Given the description of an element on the screen output the (x, y) to click on. 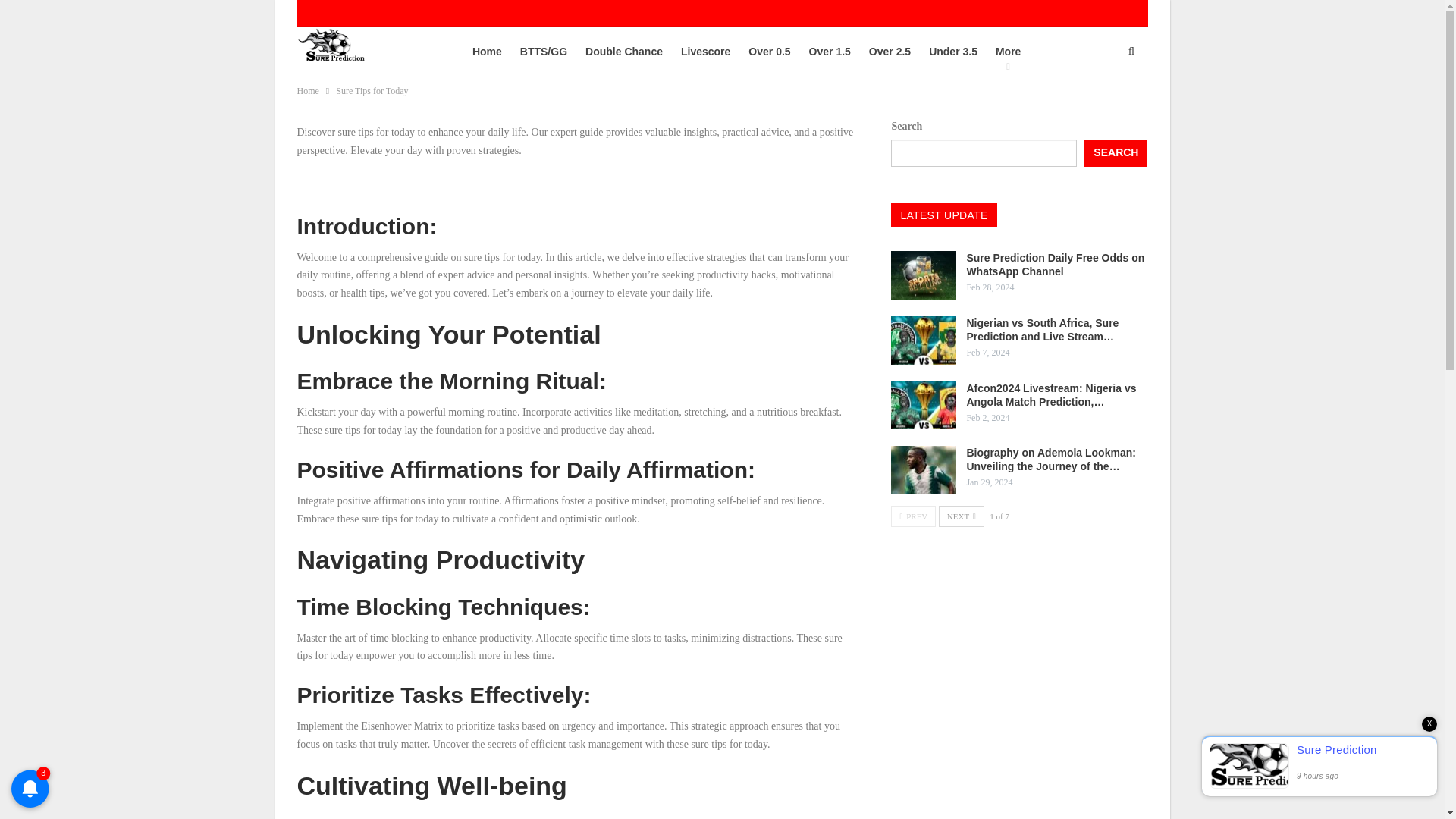
Over 2.5 (889, 51)
Sure Prediction Daily Free Odds on WhatsApp Channel (1055, 264)
Next (961, 516)
Previous (913, 516)
Over 1.5 (829, 51)
Double Chance (623, 51)
NEXT (961, 516)
Over 0.5 (768, 51)
Under 3.5 (952, 51)
Sure Prediction Daily Free Odds on WhatsApp Channel (923, 274)
PREV (913, 516)
SEARCH (1115, 153)
LATEST UPDATE (943, 214)
